Given the description of an element on the screen output the (x, y) to click on. 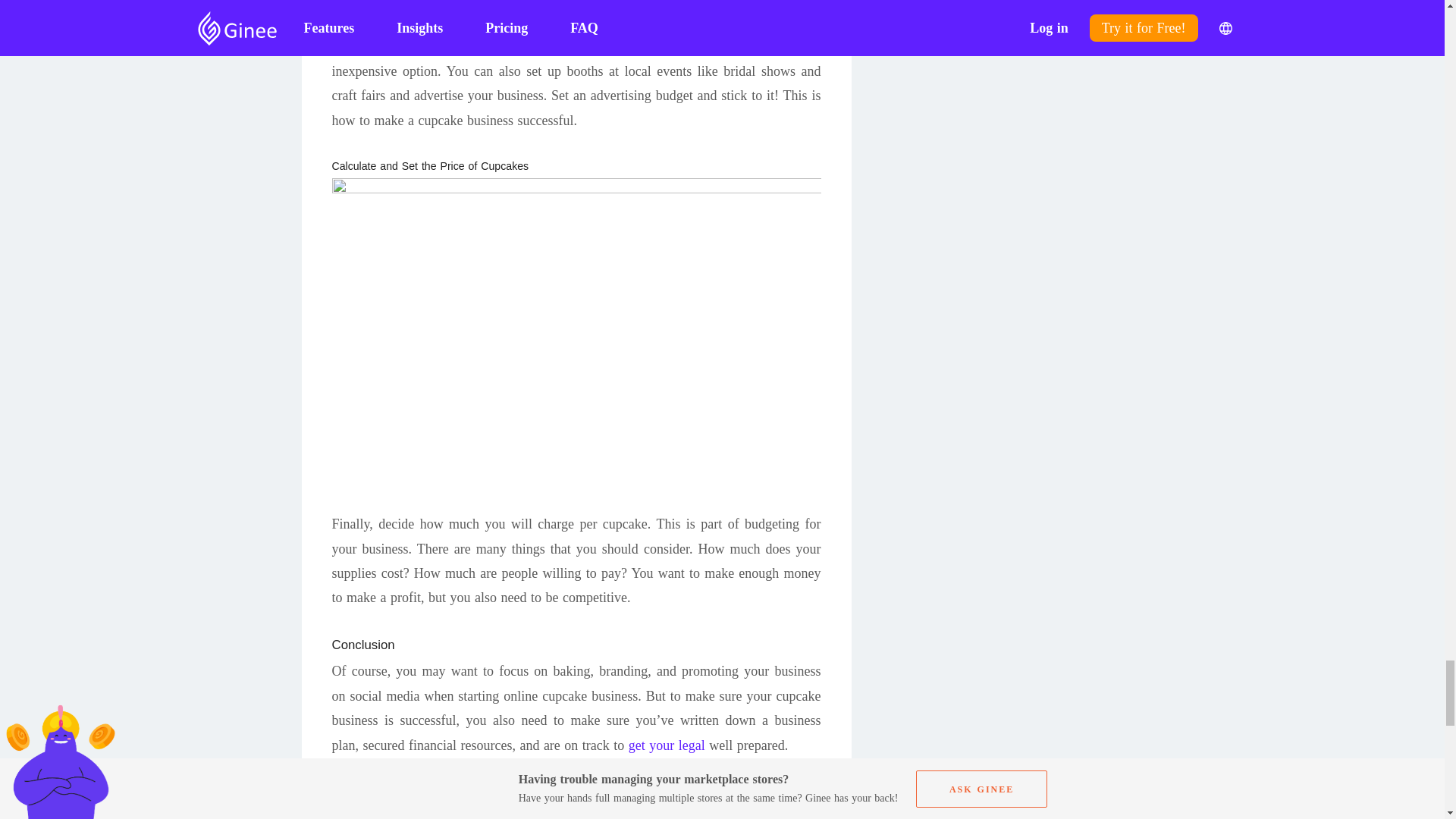
get your legal (666, 744)
Ginee Philippines (678, 814)
